Given the description of an element on the screen output the (x, y) to click on. 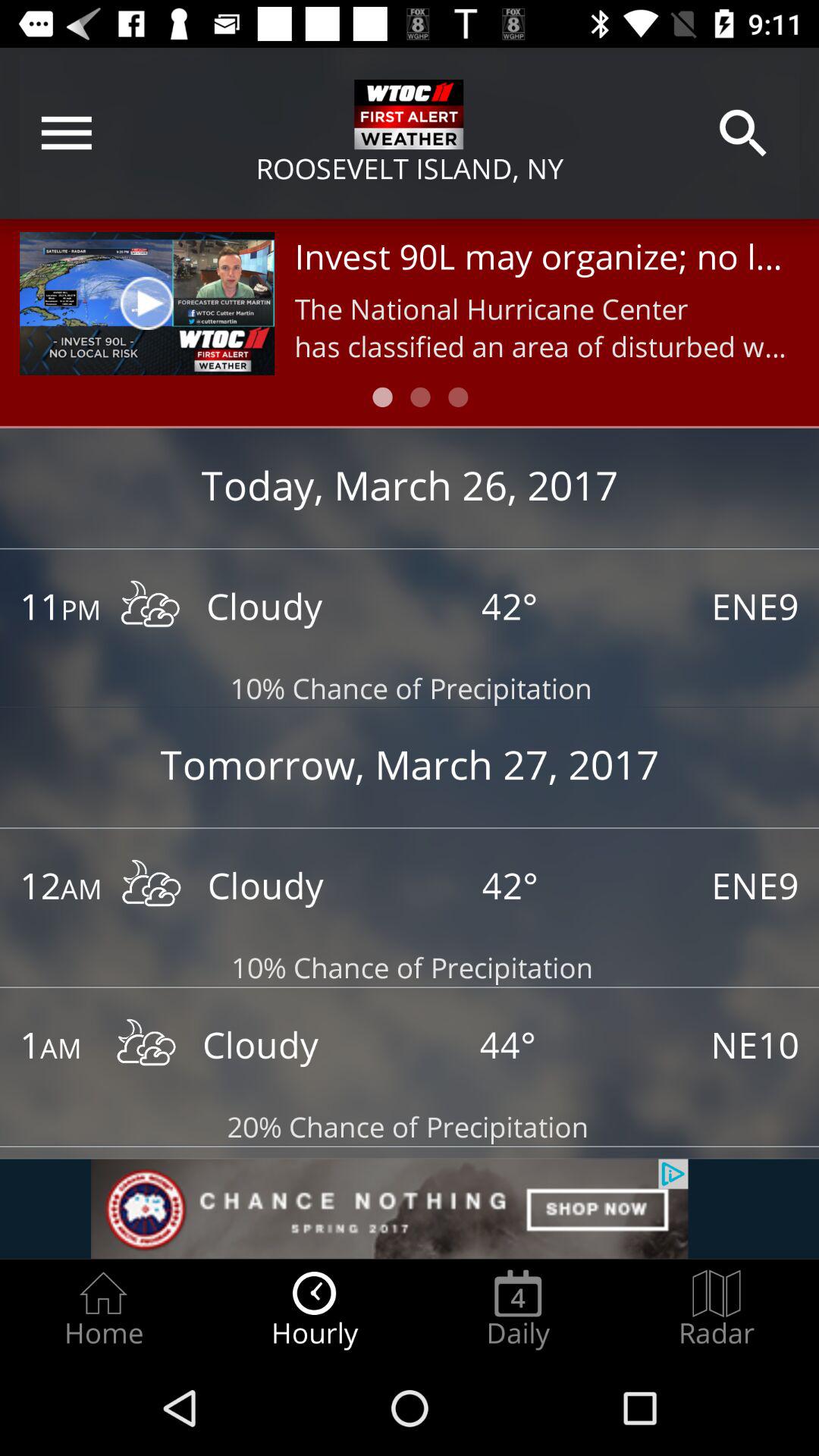
open radar item (716, 1309)
